Given the description of an element on the screen output the (x, y) to click on. 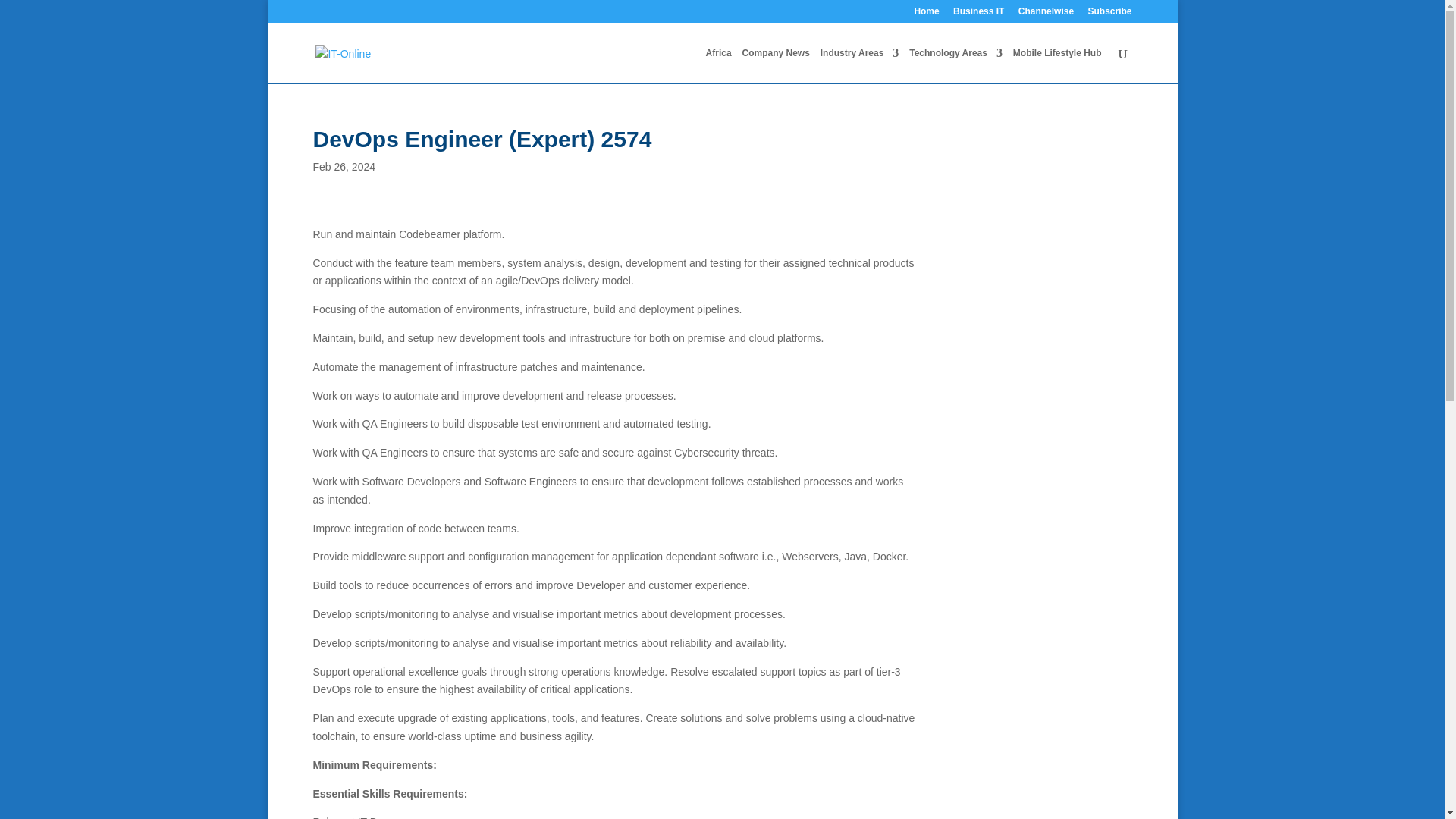
Subscribe (1109, 14)
Channelwise (1045, 14)
Company News (775, 65)
Home (926, 14)
Business IT (978, 14)
Technology Areas (955, 65)
Industry Areas (860, 65)
